Given the description of an element on the screen output the (x, y) to click on. 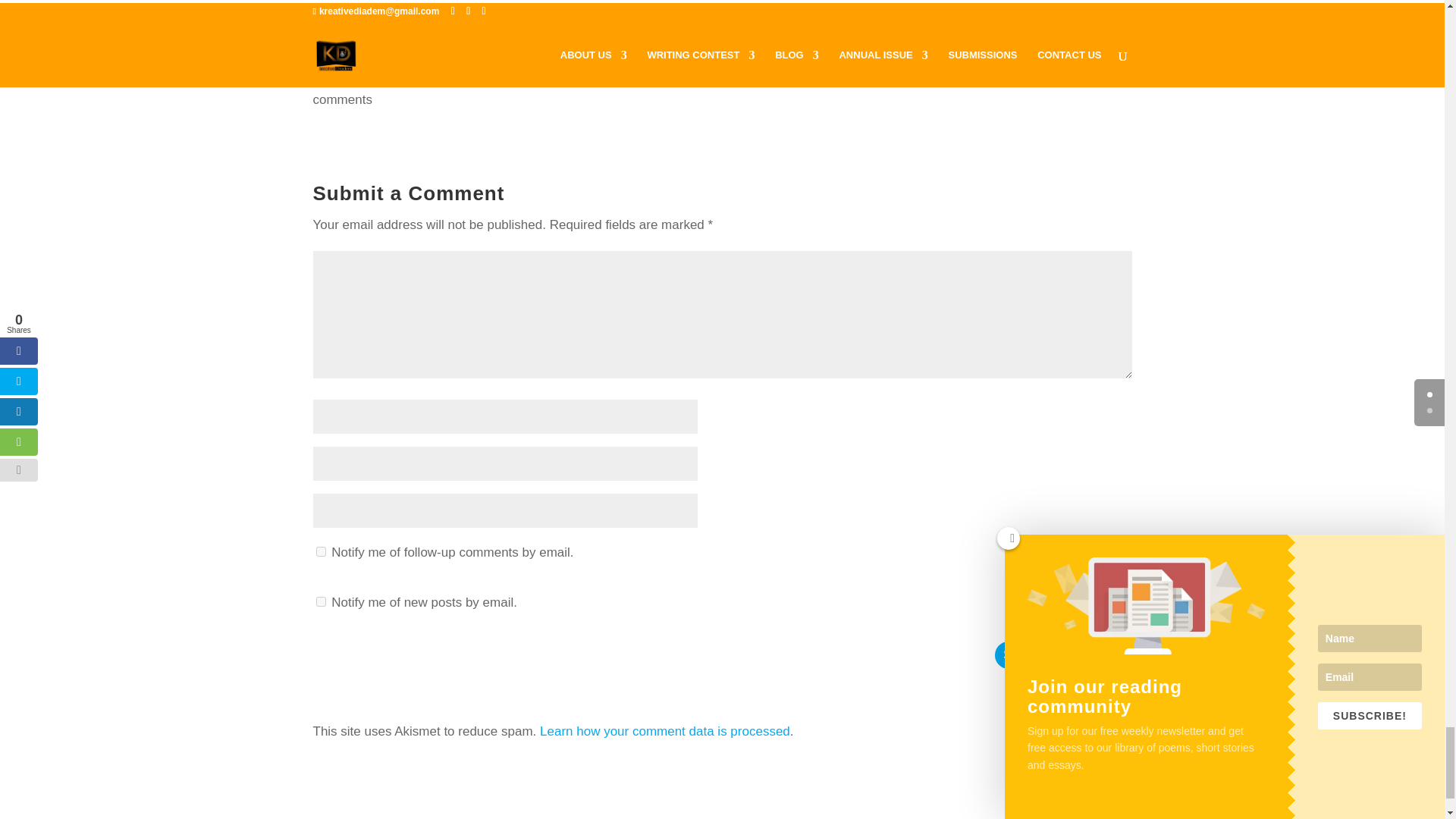
ROSES BROKE MY FALL by Eze Kenechukwu (718, 4)
BETRAYAL by Ken Odenigbo (390, 15)
subscribe (319, 601)
Submit Comment (1063, 655)
BETRAYAL by Ken Odenigbo (442, 4)
subscribe (319, 551)
